Given the description of an element on the screen output the (x, y) to click on. 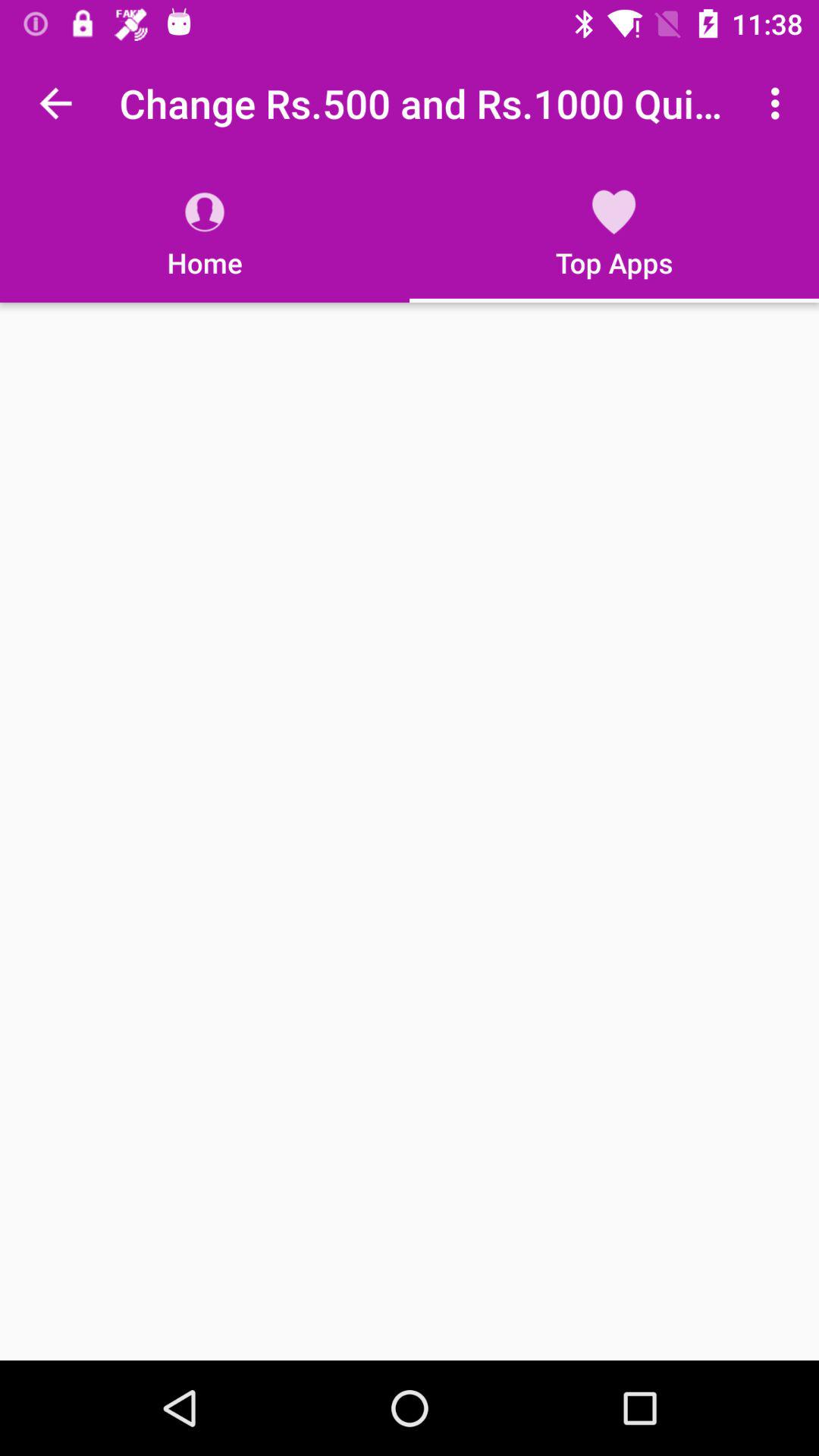
press the item next to the change rs 500 (779, 103)
